Given the description of an element on the screen output the (x, y) to click on. 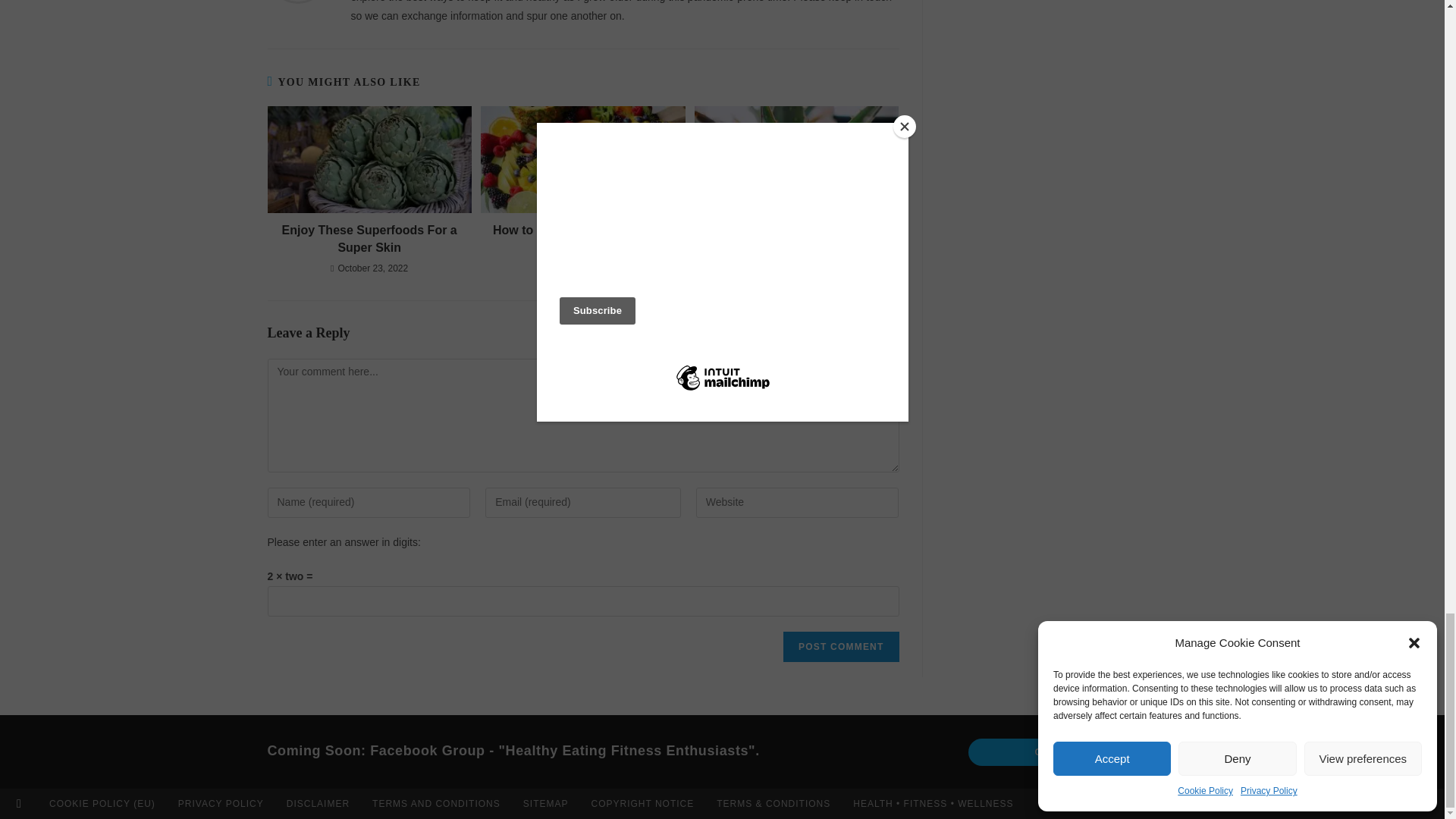
artichoke 01 - Hurlth Means Health (368, 159)
aloe vera 02 - Hurlth Means Health (796, 159)
colorful fruits 01 - Hurlth Means Health (582, 159)
Post Comment (840, 646)
